Given the description of an element on the screen output the (x, y) to click on. 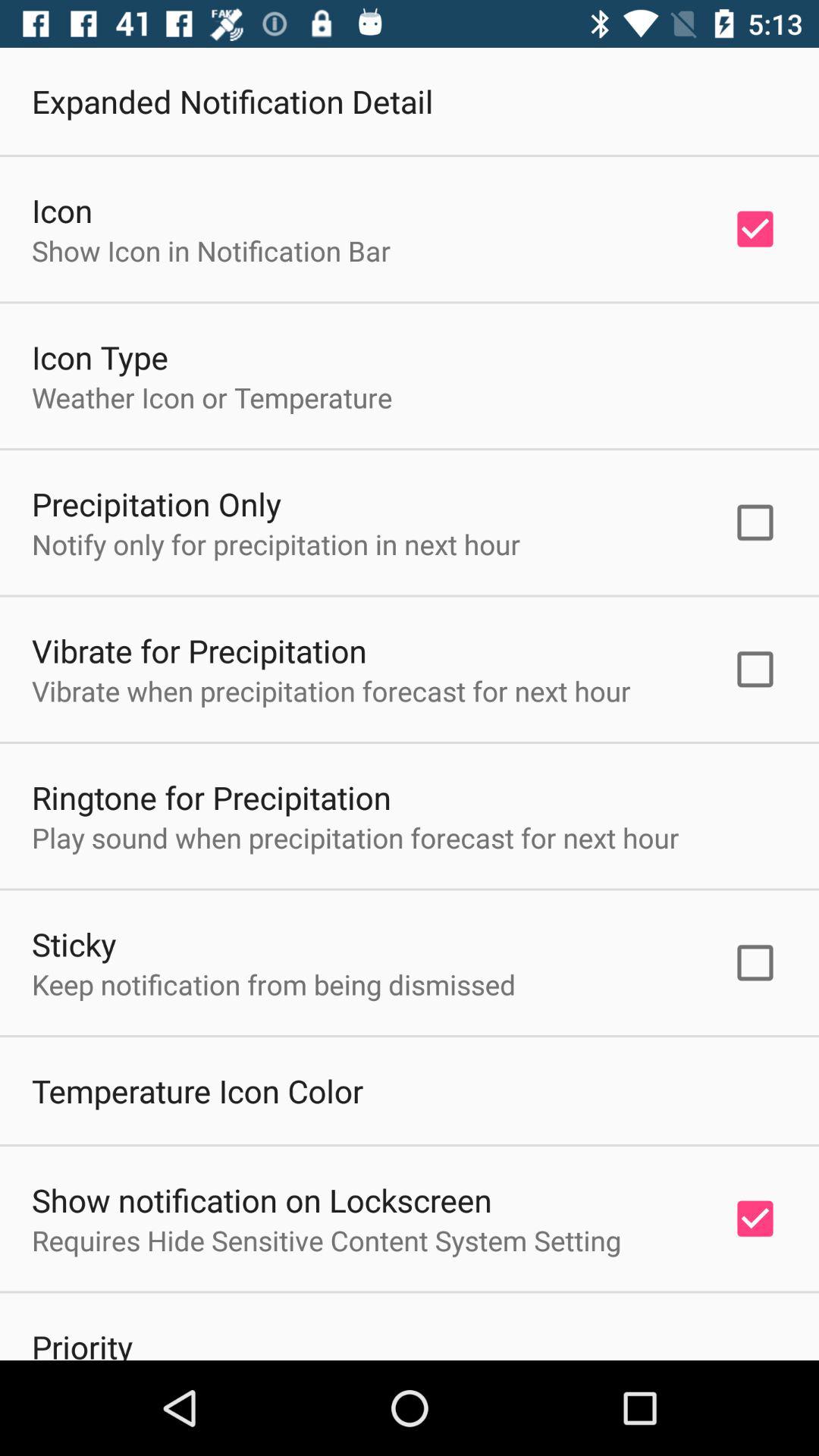
scroll until priority icon (82, 1342)
